Given the description of an element on the screen output the (x, y) to click on. 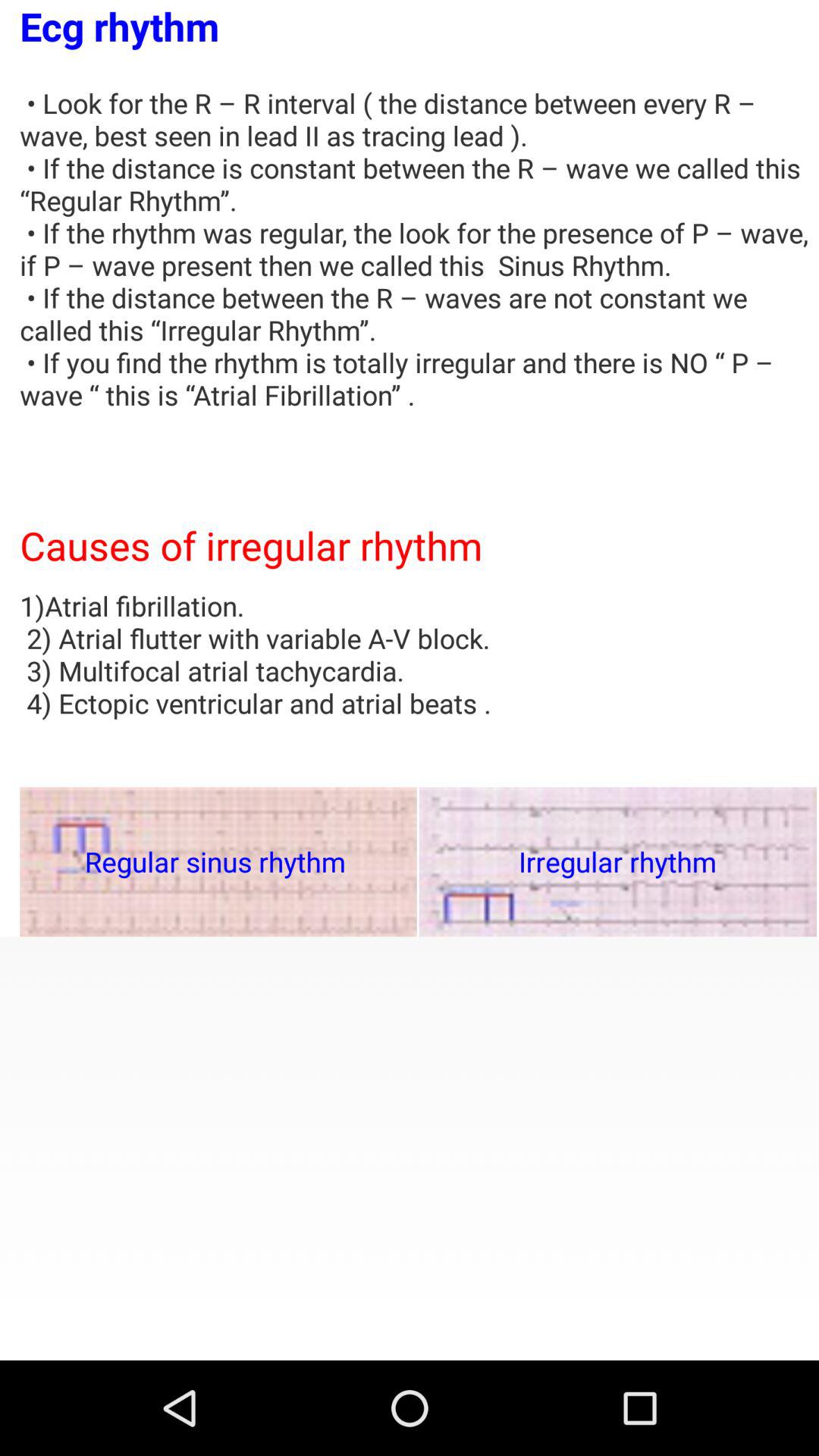
select item to the left of the irregular rhythm (217, 861)
